Given the description of an element on the screen output the (x, y) to click on. 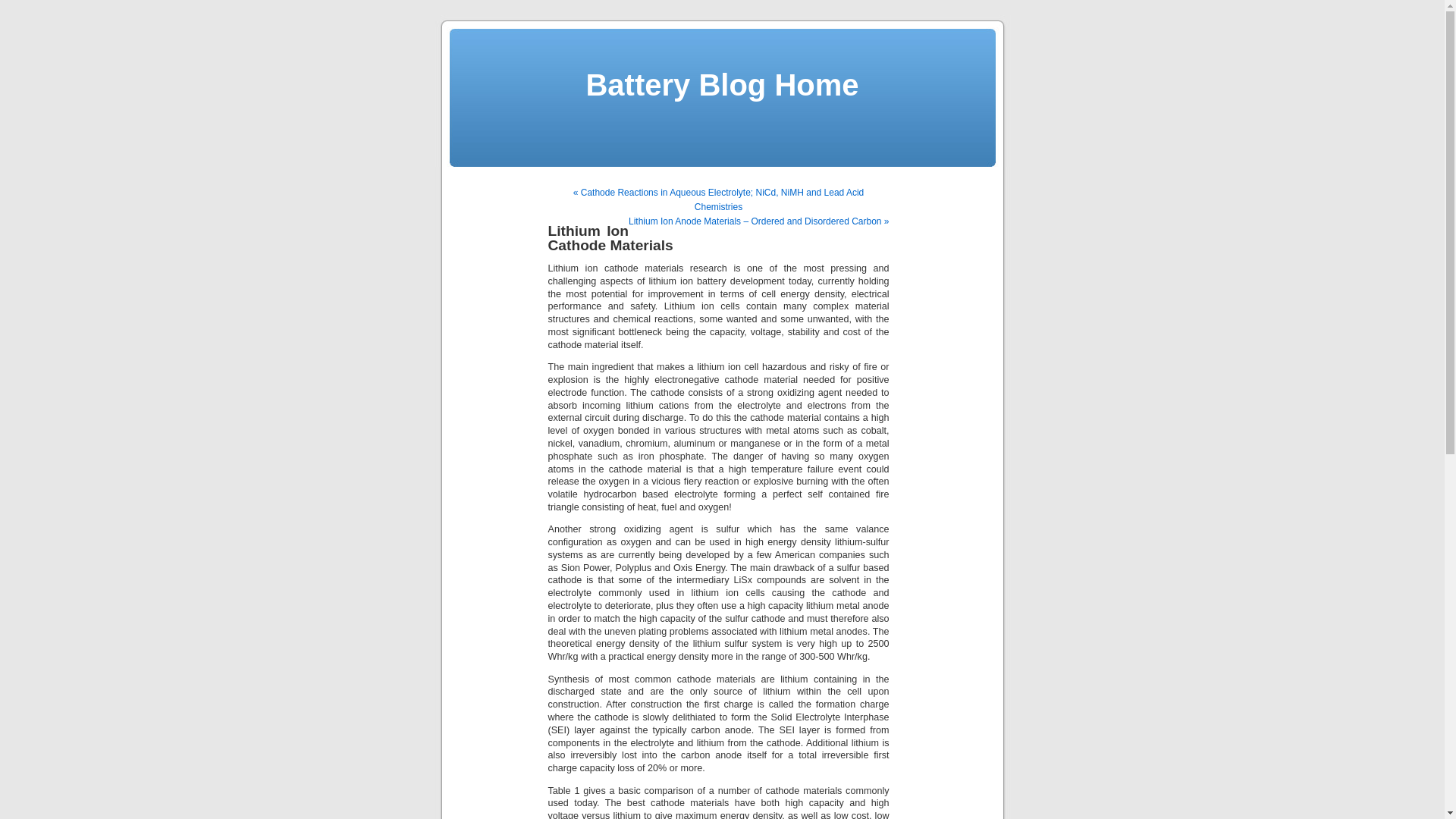
Battery Blog Home Element type: text (721, 84)
